Given the description of an element on the screen output the (x, y) to click on. 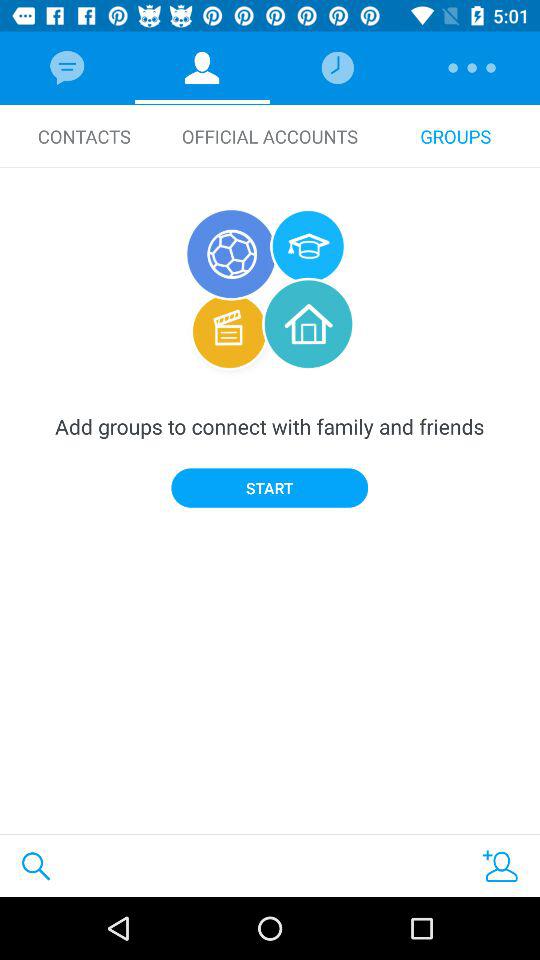
turn off item to the left of groups icon (269, 136)
